Given the description of an element on the screen output the (x, y) to click on. 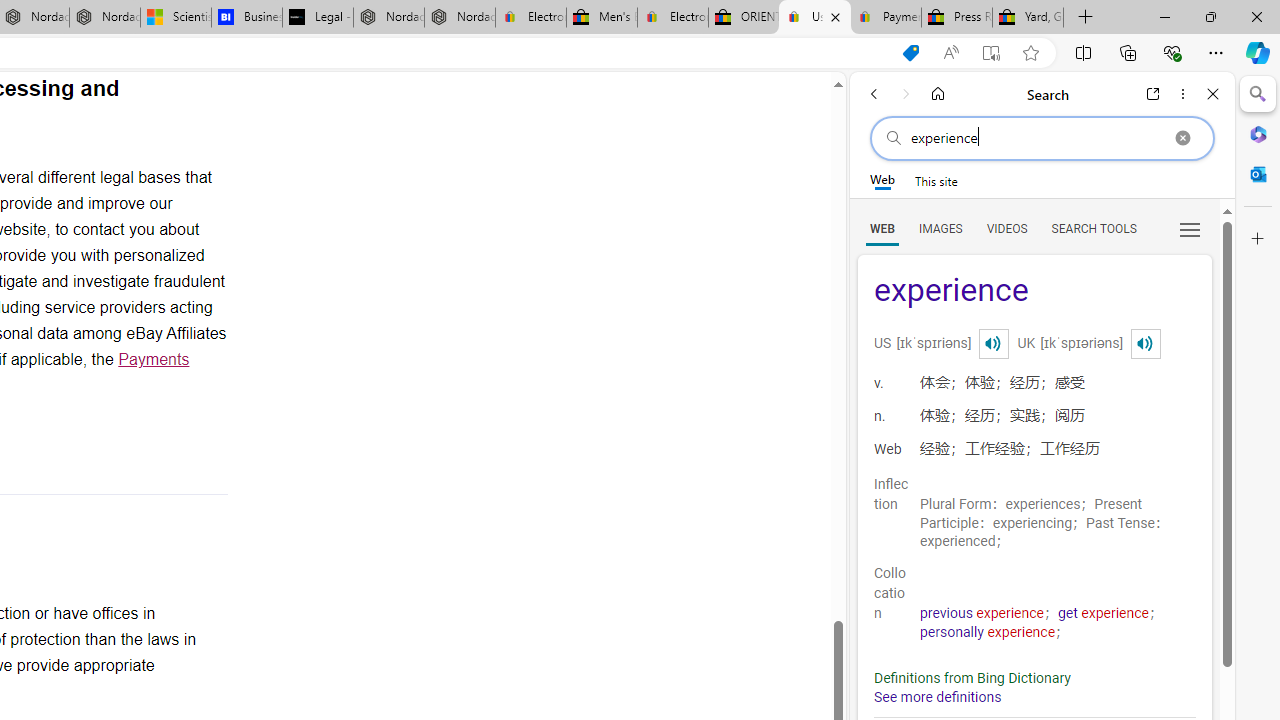
experience (1034, 291)
previous experience (982, 613)
